Given the description of an element on the screen output the (x, y) to click on. 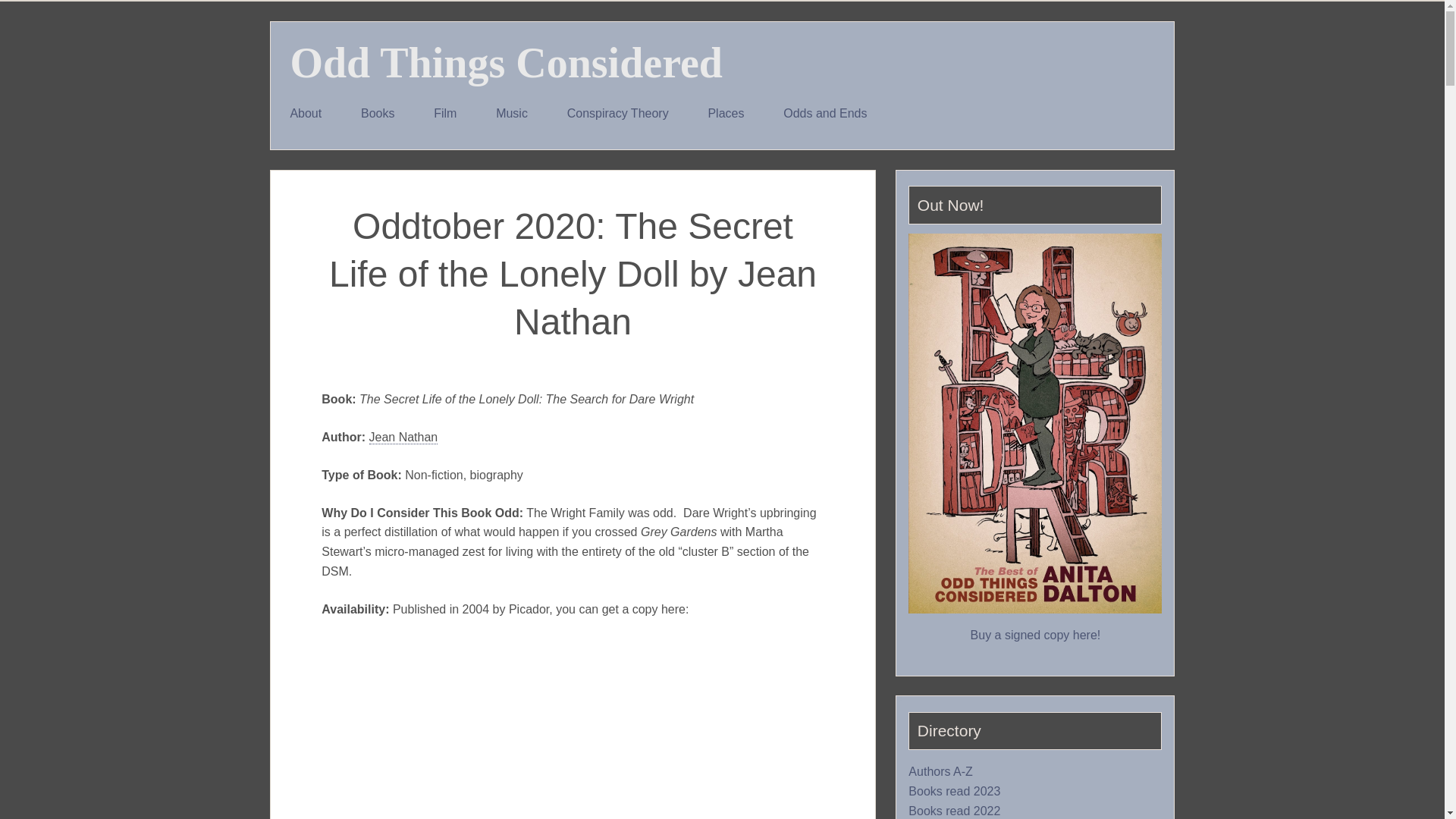
Film (444, 114)
Odds and Ends (824, 114)
About (306, 114)
Places (726, 114)
Odd Things Considered (505, 62)
Conspiracy Theory (617, 114)
Jean Nathan (403, 437)
Music (511, 114)
Books (376, 114)
